Given the description of an element on the screen output the (x, y) to click on. 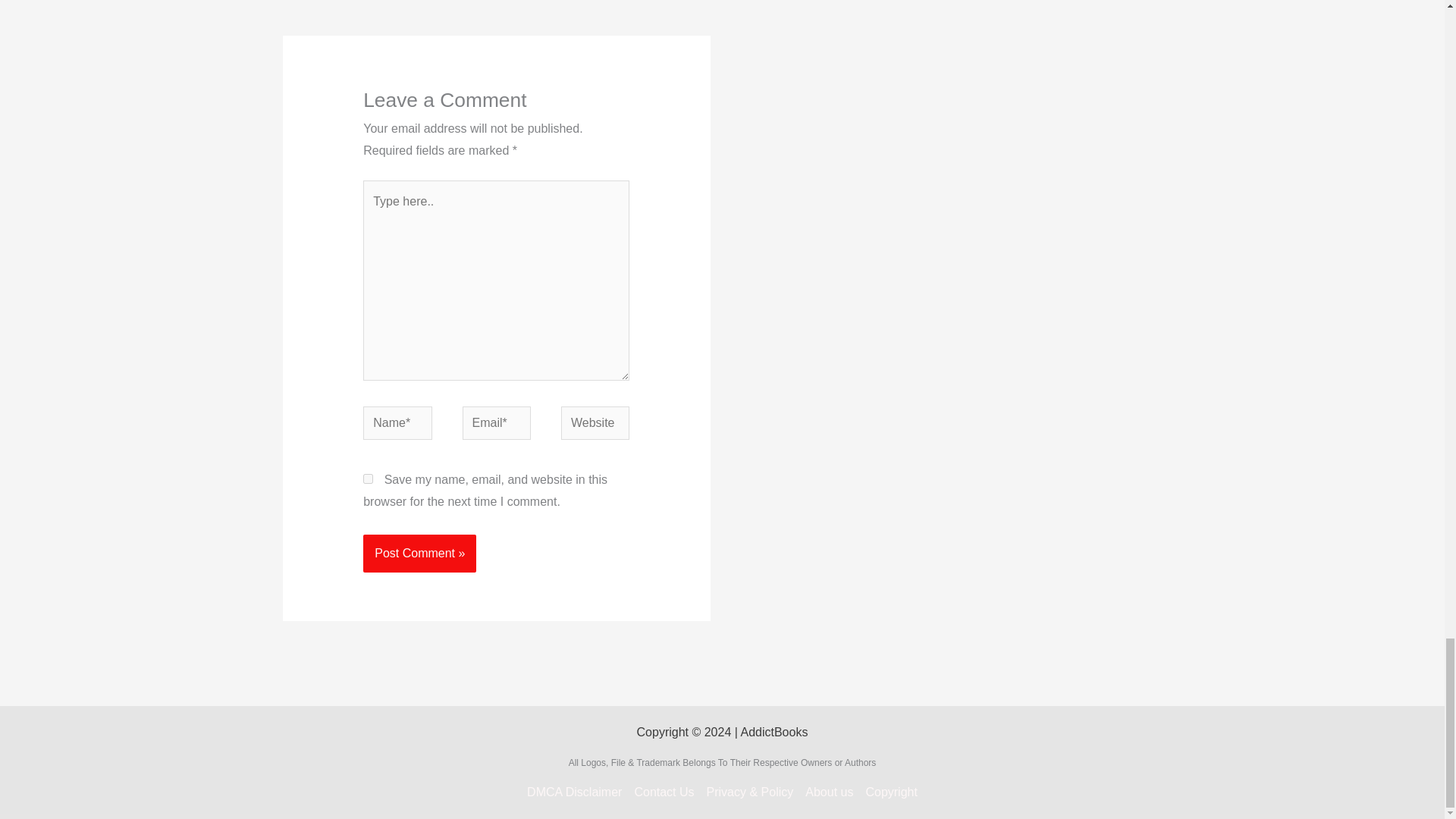
The 4-Hour Chef PDF Download By Timothy Ferriss (328, 4)
yes (367, 479)
